Given the description of an element on the screen output the (x, y) to click on. 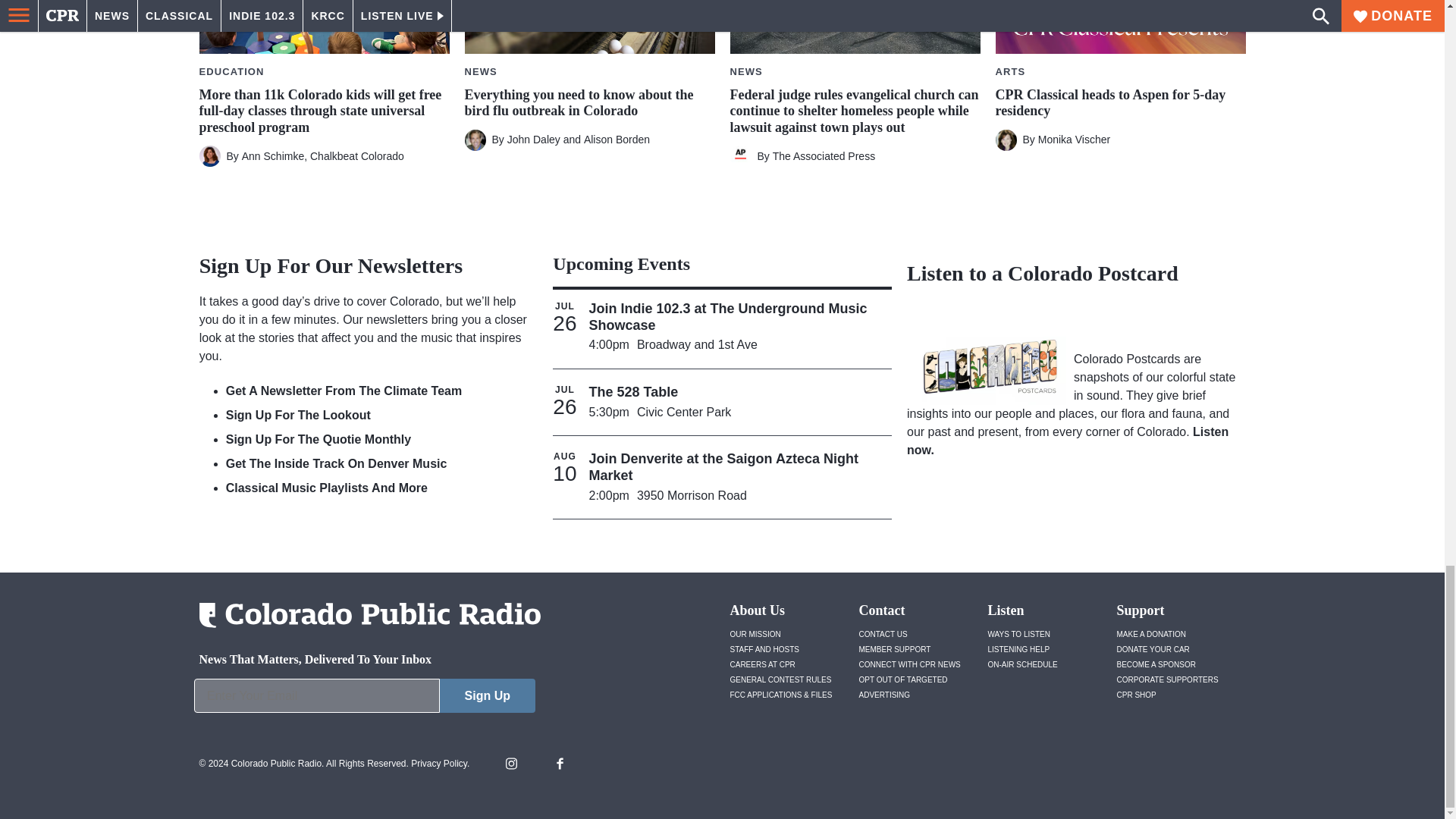
footer (364, 699)
